Given the description of an element on the screen output the (x, y) to click on. 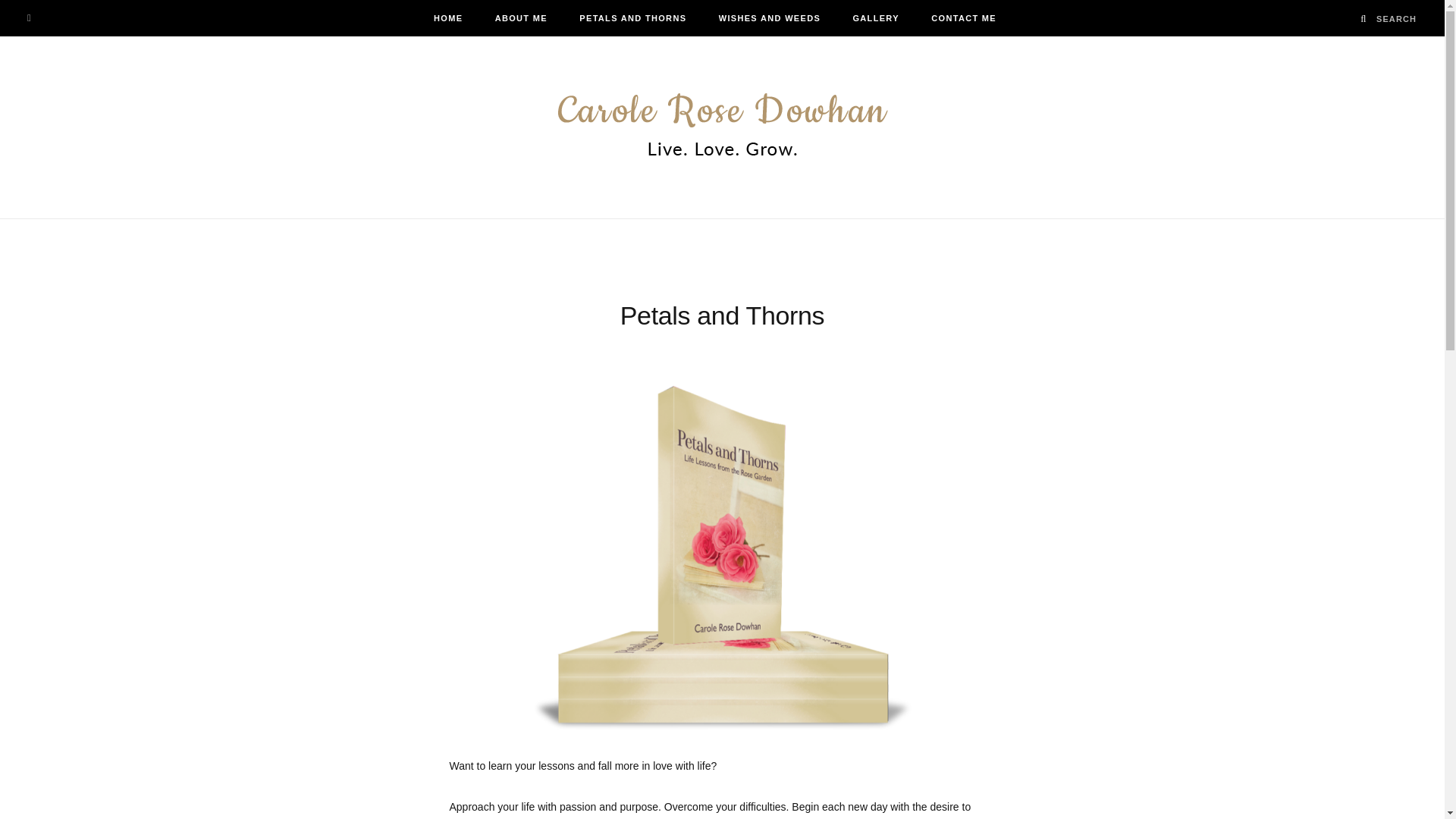
HOME (448, 18)
Carole Rose Dowhan (722, 127)
CONTACT ME (963, 18)
WISHES AND WEEDS (769, 18)
ABOUT ME (521, 18)
PETALS AND THORNS (632, 18)
GALLERY (875, 18)
